Given the description of an element on the screen output the (x, y) to click on. 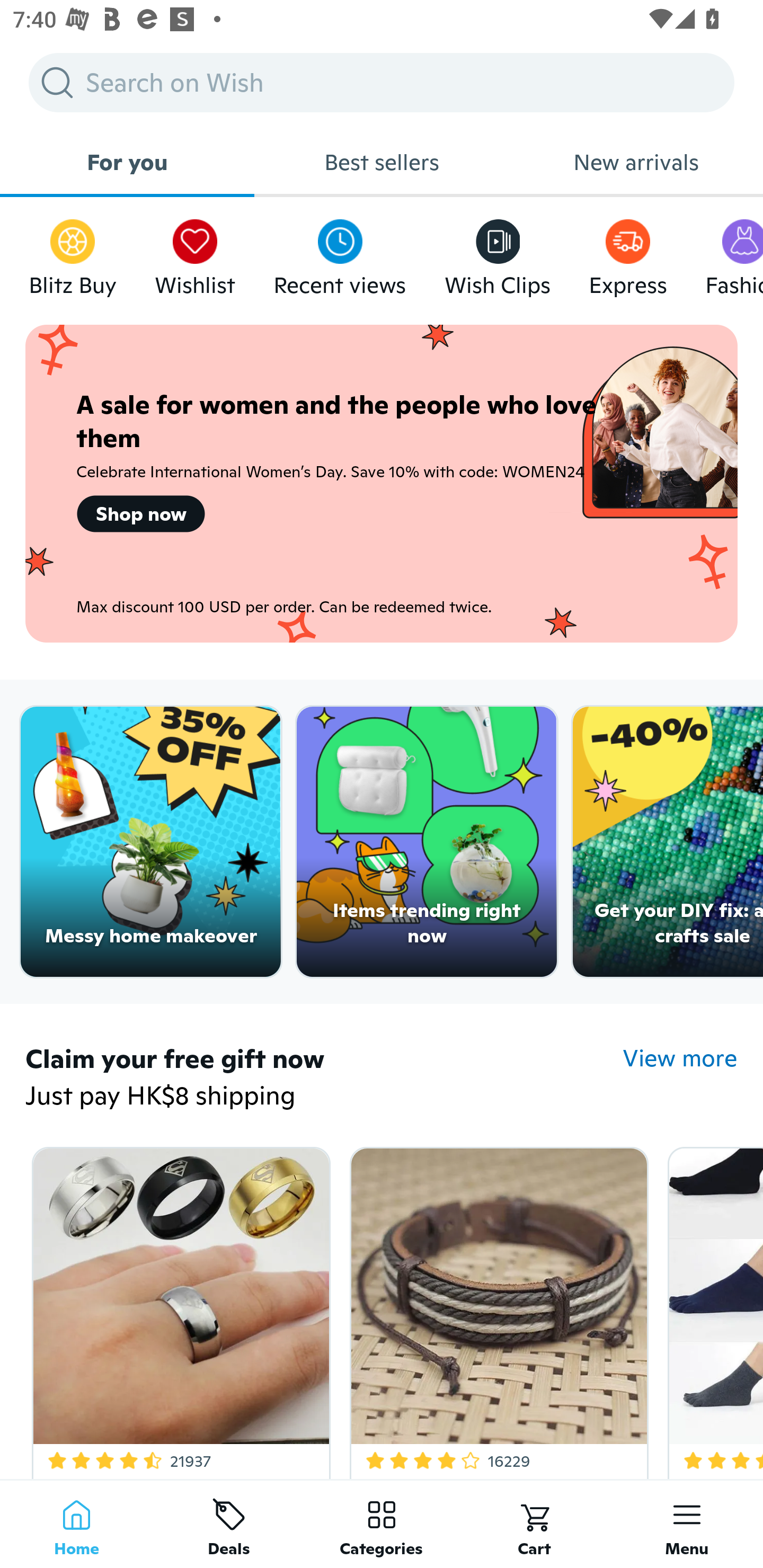
Search on Wish (381, 82)
For you (127, 161)
Best sellers (381, 161)
New arrivals (635, 161)
Blitz Buy (72, 252)
Wishlist (194, 252)
Recent views (339, 252)
Wish Clips (497, 252)
Express (627, 252)
Fashion (734, 252)
Messy home makeover (150, 841)
Items trending right now (426, 841)
Get your DIY fix: arts & crafts sale (668, 841)
Claim your free gift now
Just pay HK$8 shipping (323, 1078)
View more (679, 1058)
4.3 Star Rating 21937 Free (177, 1308)
3.8 Star Rating 16229 Free (495, 1308)
Home (76, 1523)
Deals (228, 1523)
Categories (381, 1523)
Cart (533, 1523)
Menu (686, 1523)
